Given the description of an element on the screen output the (x, y) to click on. 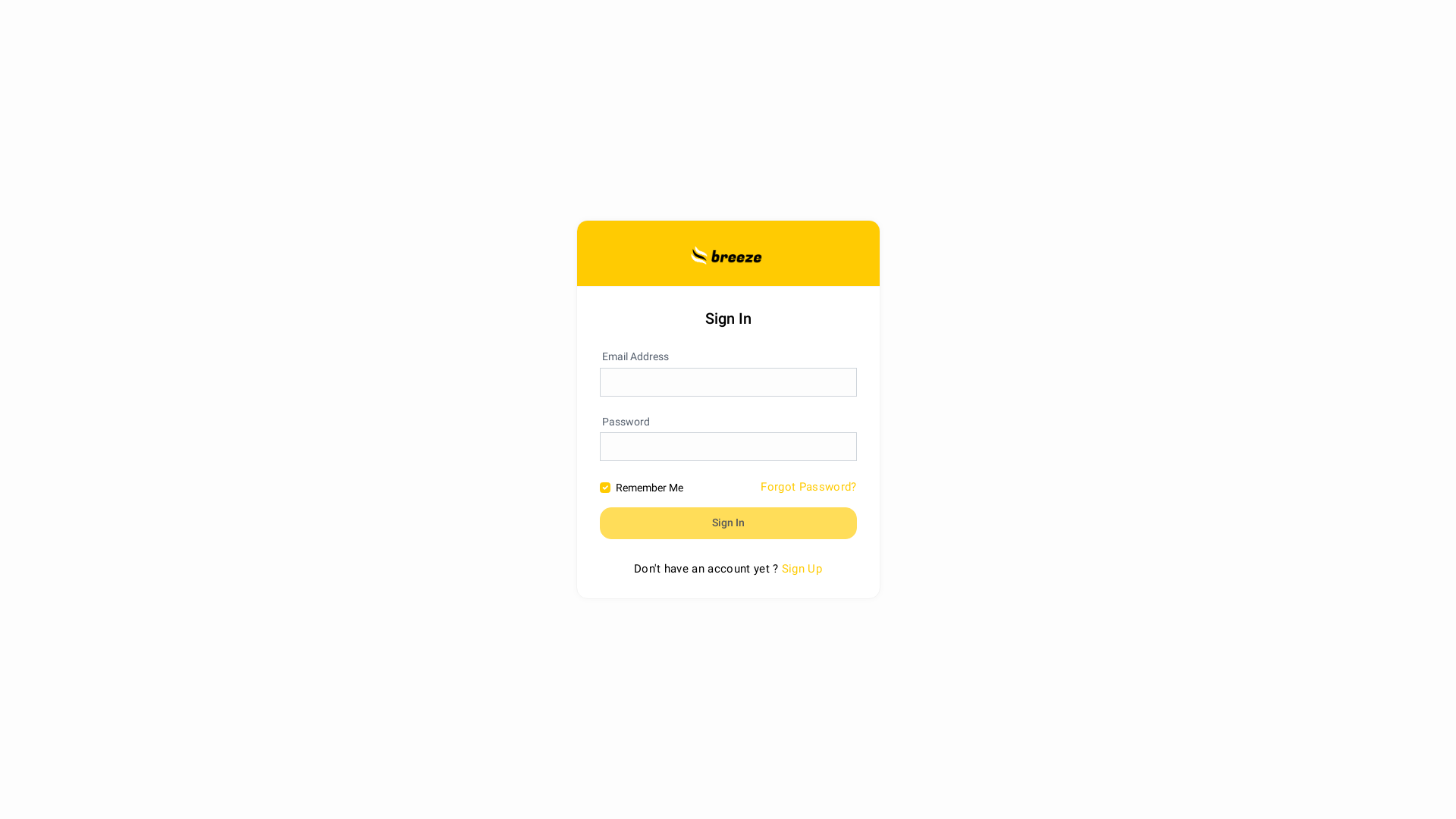
Sign In Element type: text (727, 523)
Sign Up Element type: text (801, 568)
Forgot Password? Element type: text (808, 486)
Breeze Invoicing Software Element type: hover (727, 252)
